Given the description of an element on the screen output the (x, y) to click on. 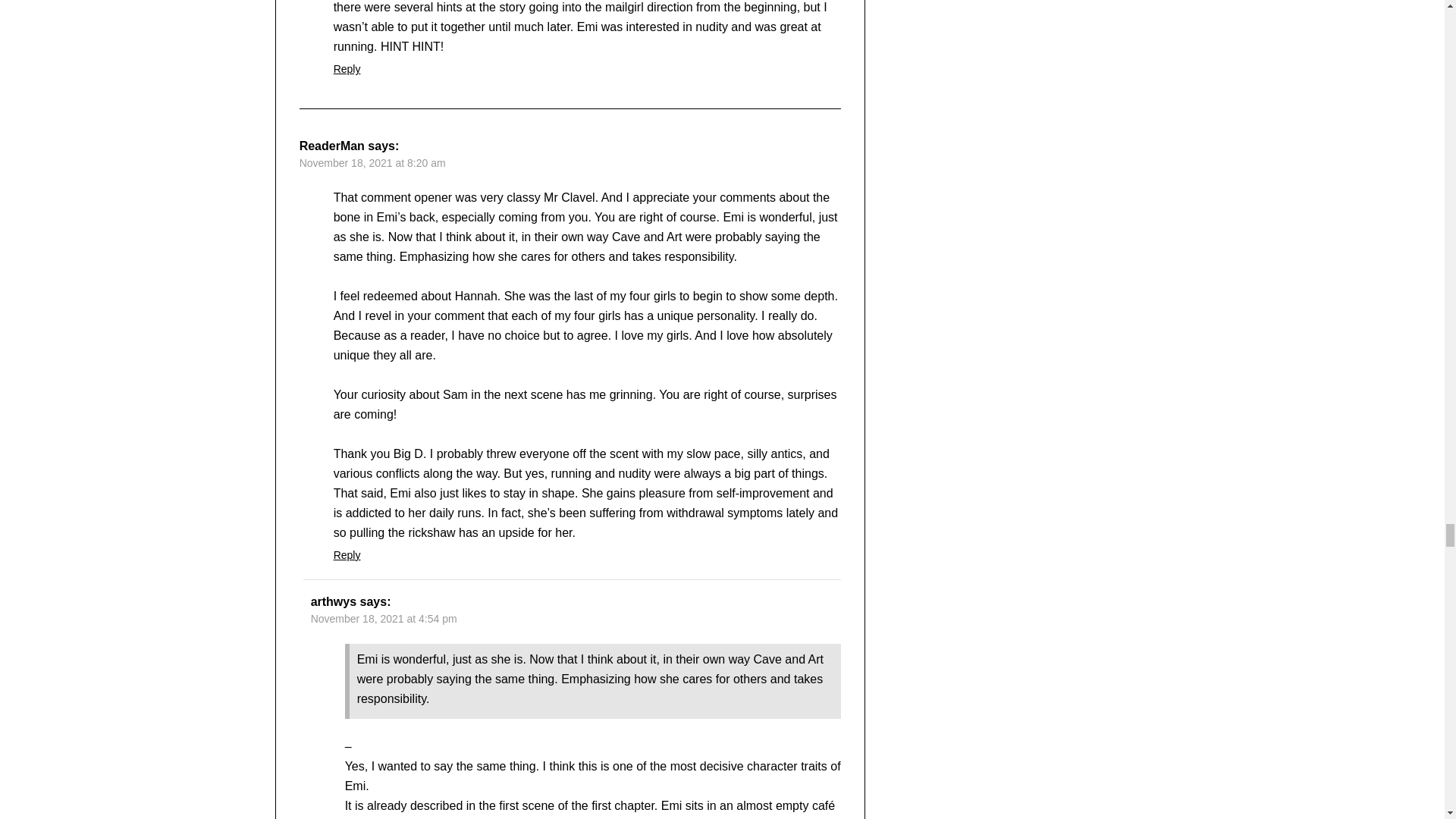
Reply (347, 554)
Reply (347, 69)
November 18, 2021 at 8:20 am (372, 162)
November 18, 2021 at 4:54 pm (384, 618)
